Given the description of an element on the screen output the (x, y) to click on. 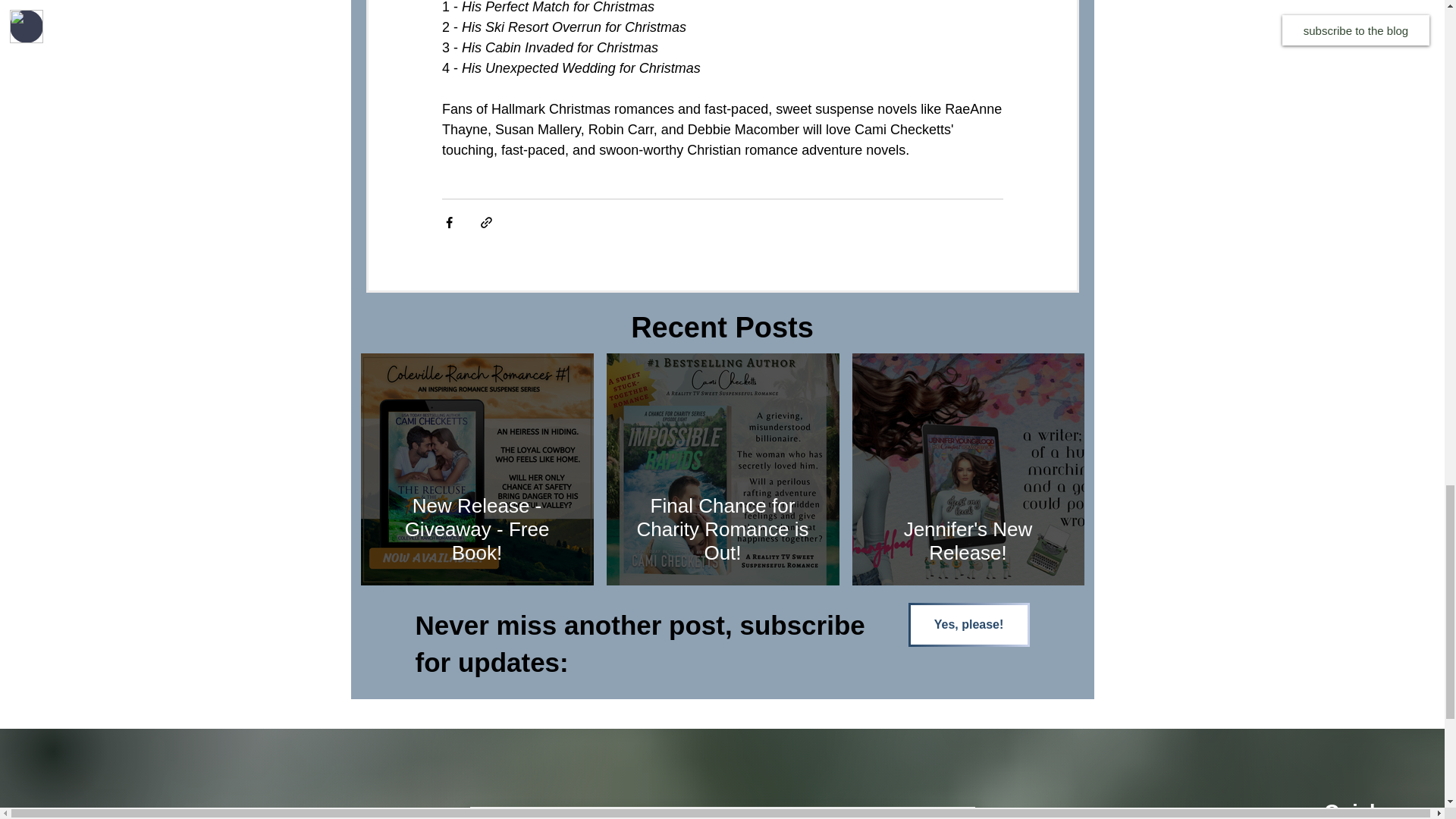
Final Chance for Charity Romance is Out! (722, 529)
Jennifer's New Release! (968, 540)
Yes, please! (968, 624)
New Release - Giveaway - Free Book! (477, 529)
